Given the description of an element on the screen output the (x, y) to click on. 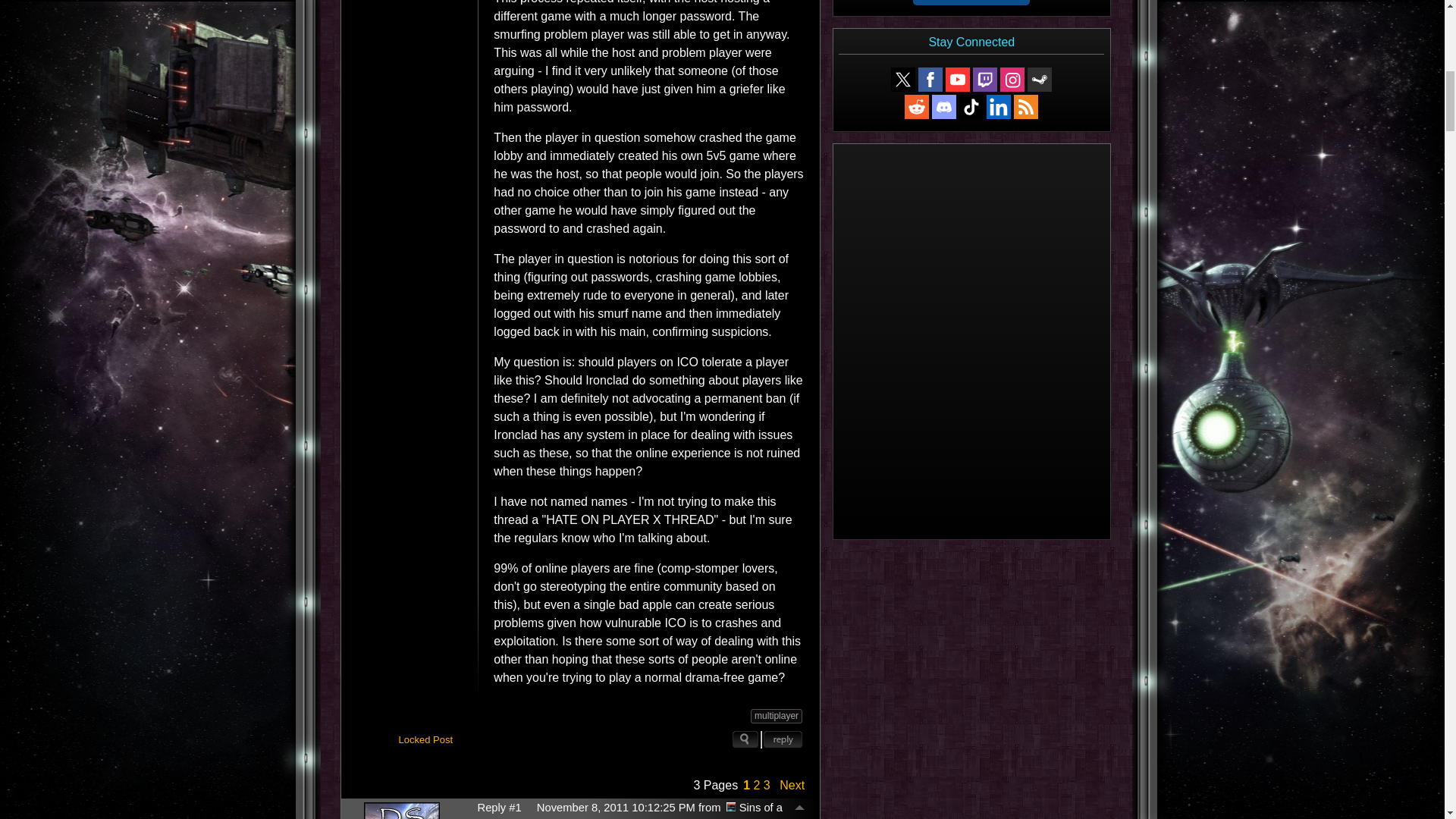
Scroll to Top (799, 809)
Reply to this post (782, 739)
Search this post (745, 739)
Sins of a Solar Empire Forums (730, 806)
